Given the description of an element on the screen output the (x, y) to click on. 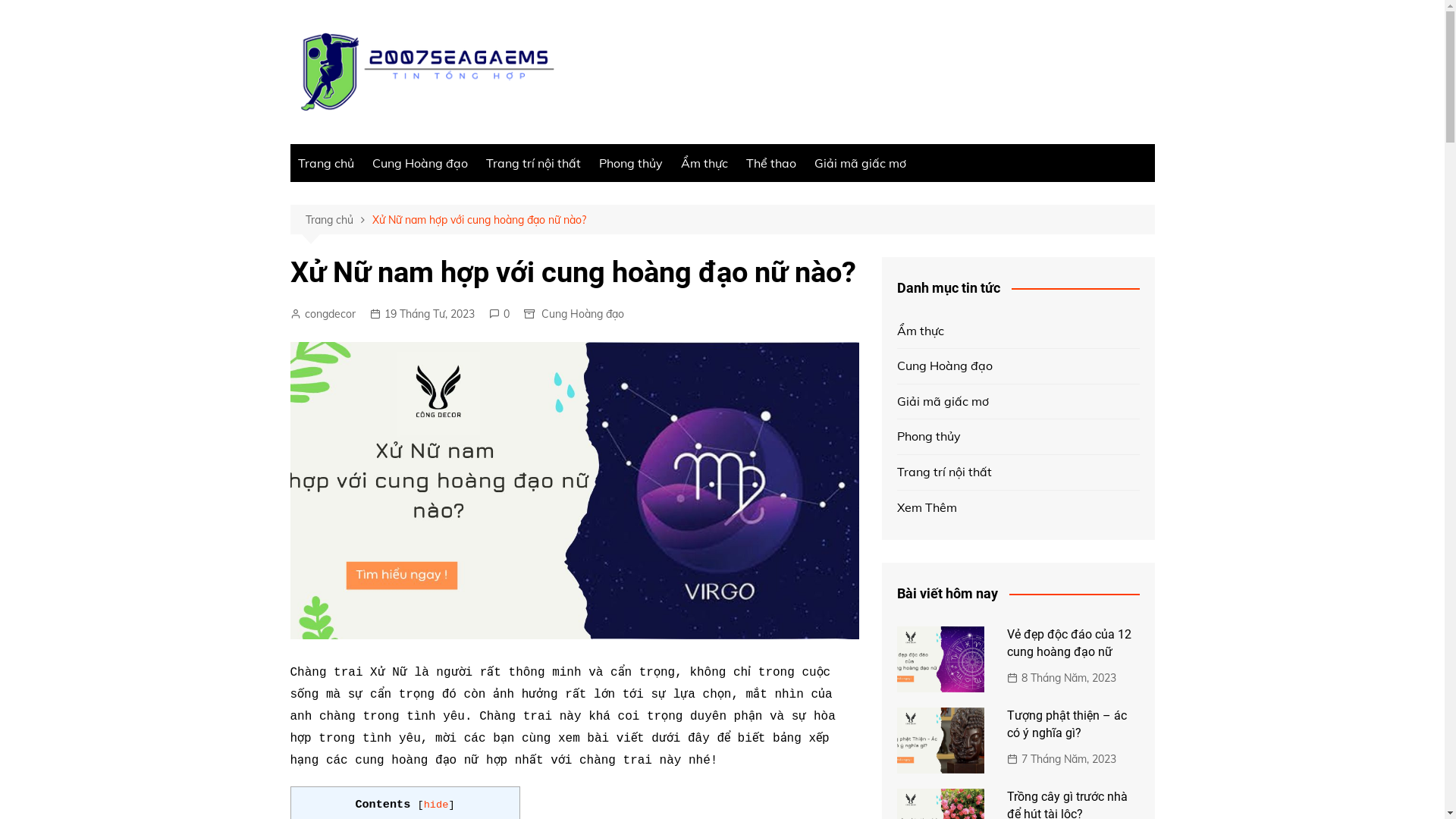
congdecor Element type: text (321, 313)
0 Element type: text (498, 313)
hide Element type: text (435, 804)
